Given the description of an element on the screen output the (x, y) to click on. 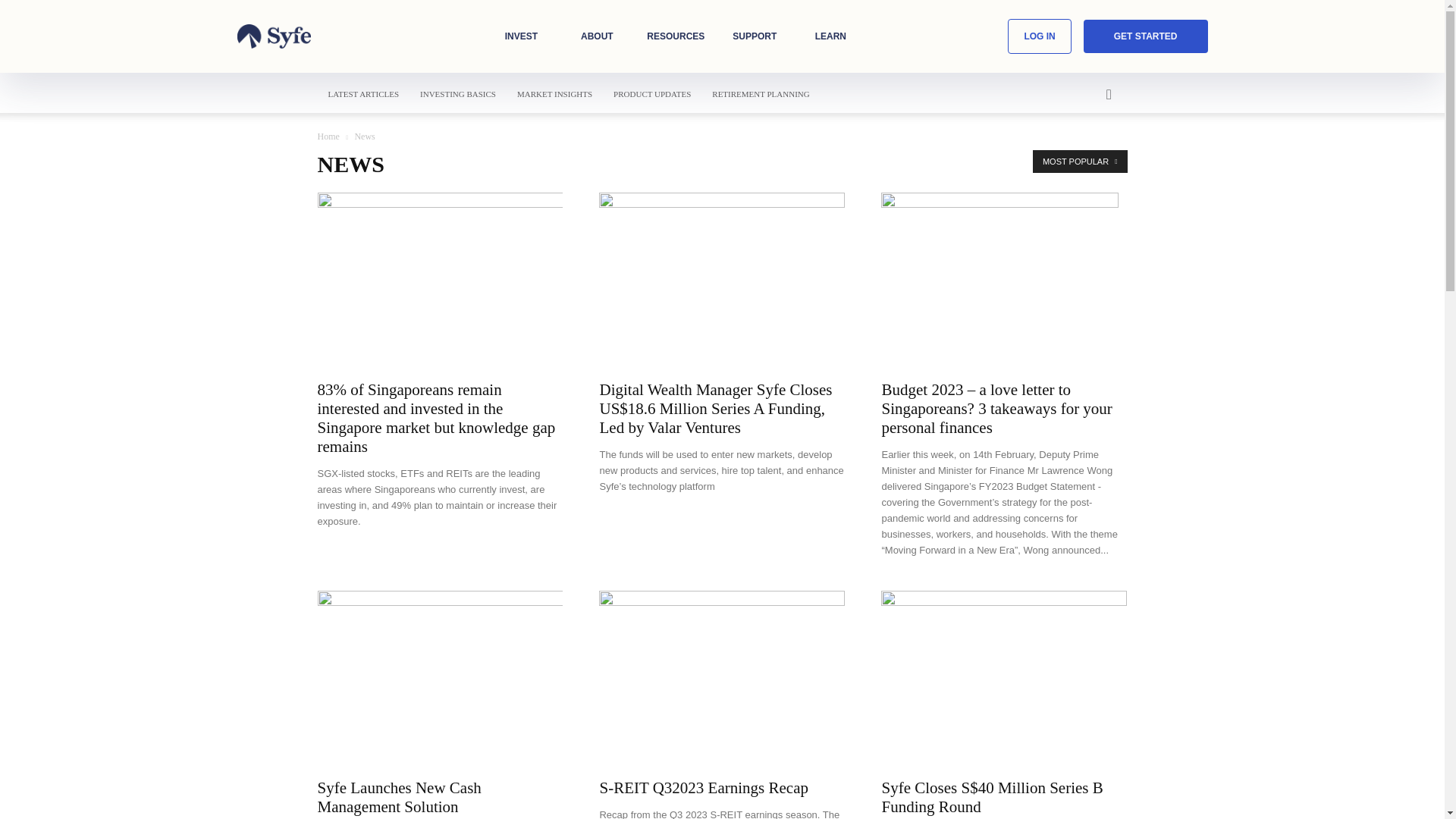
Syfe Launches New Cash Management Solution (439, 679)
Syfe Launches New Cash Management Solution (398, 796)
